Given the description of an element on the screen output the (x, y) to click on. 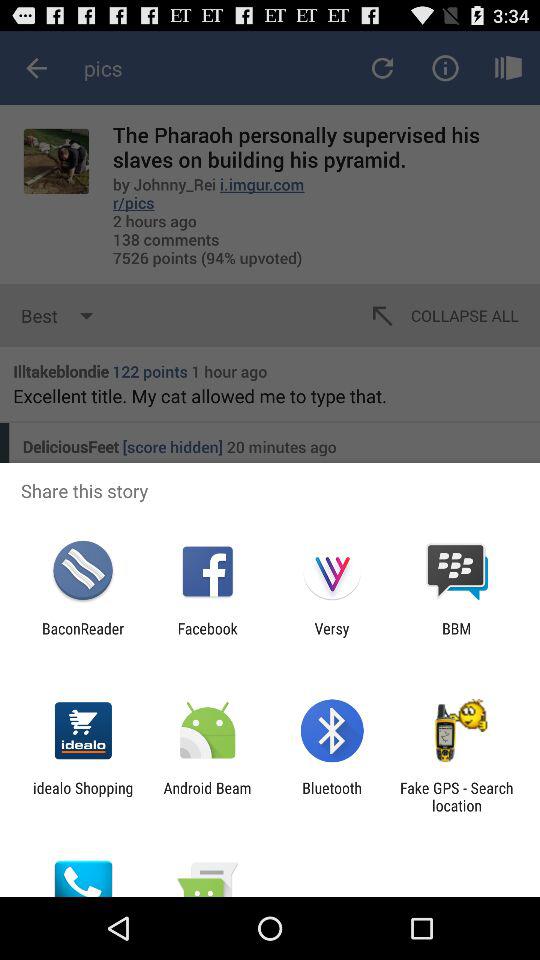
open the item next to versy icon (207, 637)
